Given the description of an element on the screen output the (x, y) to click on. 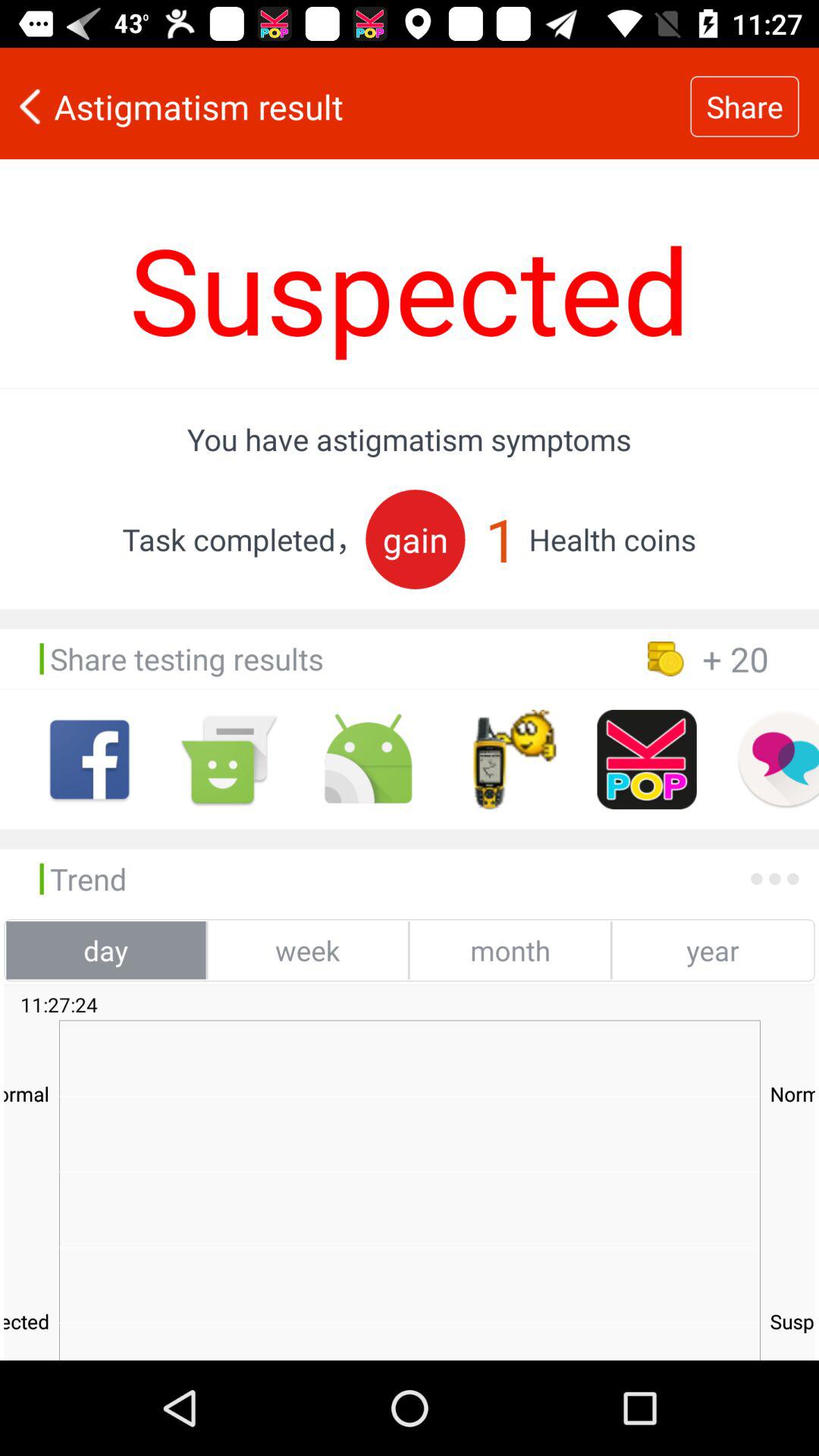
open kpop app (646, 759)
